Given the description of an element on the screen output the (x, y) to click on. 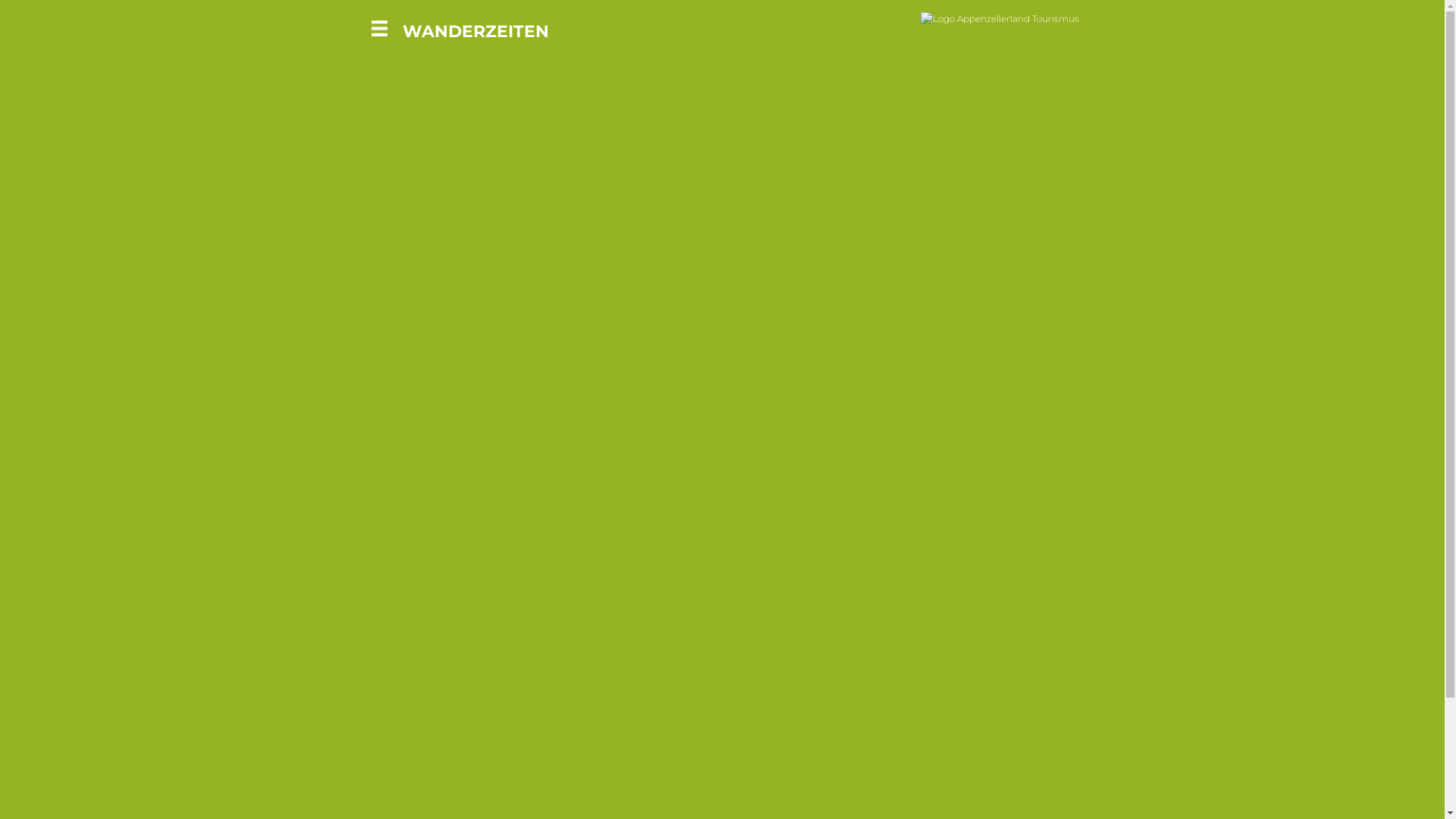
zur Webseite von Appenzellerland Tourismus Element type: hover (999, 17)
 FEUERSTELLEN Element type: text (92, 56)
 KAPELLEN Element type: text (76, 95)
Logo Appenzellerland Tourismus Element type: hover (999, 18)
 WEGWEISER Element type: text (83, 17)
